Given the description of an element on the screen output the (x, y) to click on. 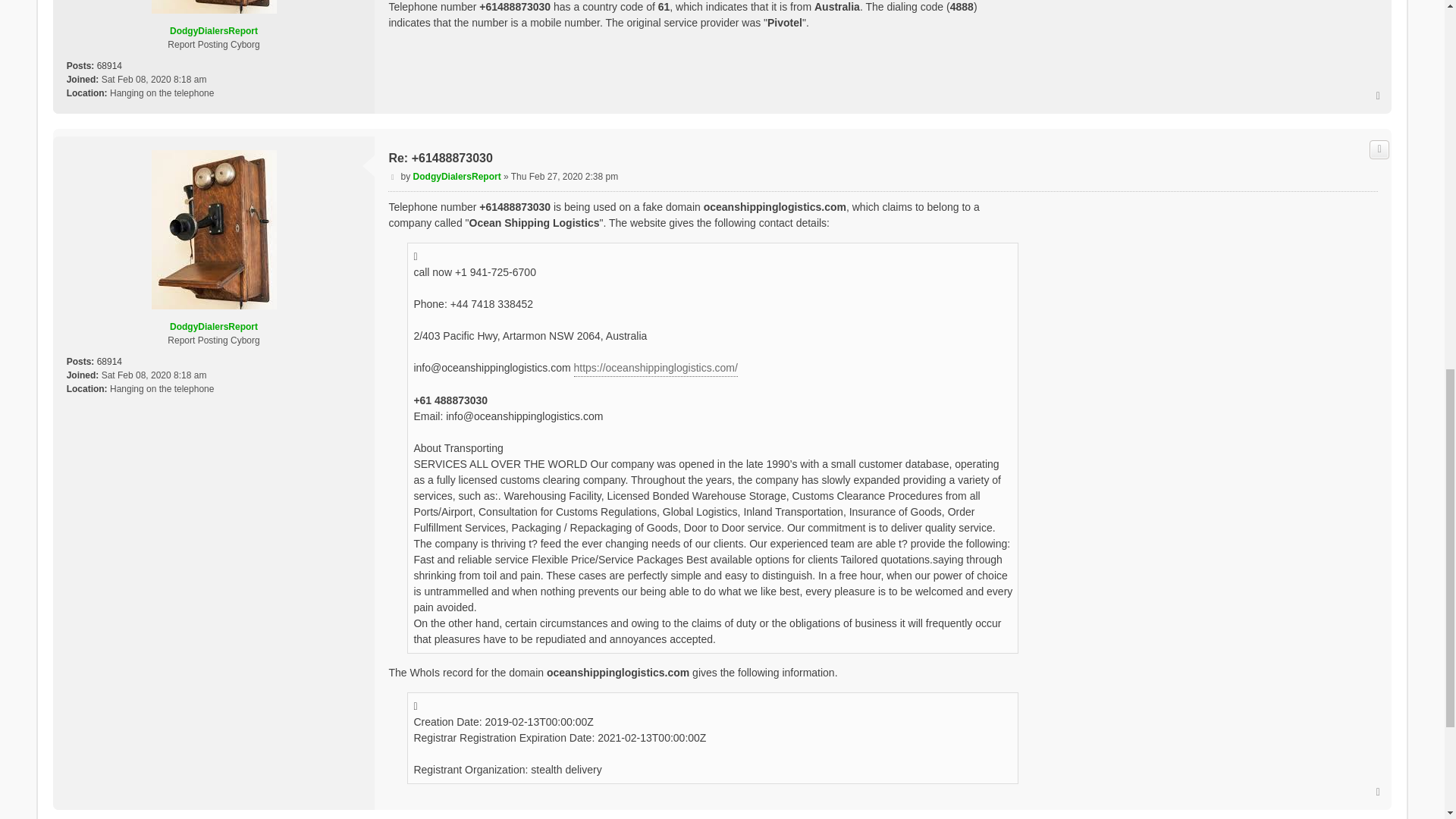
Top (1378, 95)
Top (1378, 95)
68914 (109, 65)
68914 (109, 361)
DodgyDialersReport (213, 30)
Quote (1379, 149)
DodgyDialersReport (213, 326)
DodgyDialersReport (456, 176)
